Given the description of an element on the screen output the (x, y) to click on. 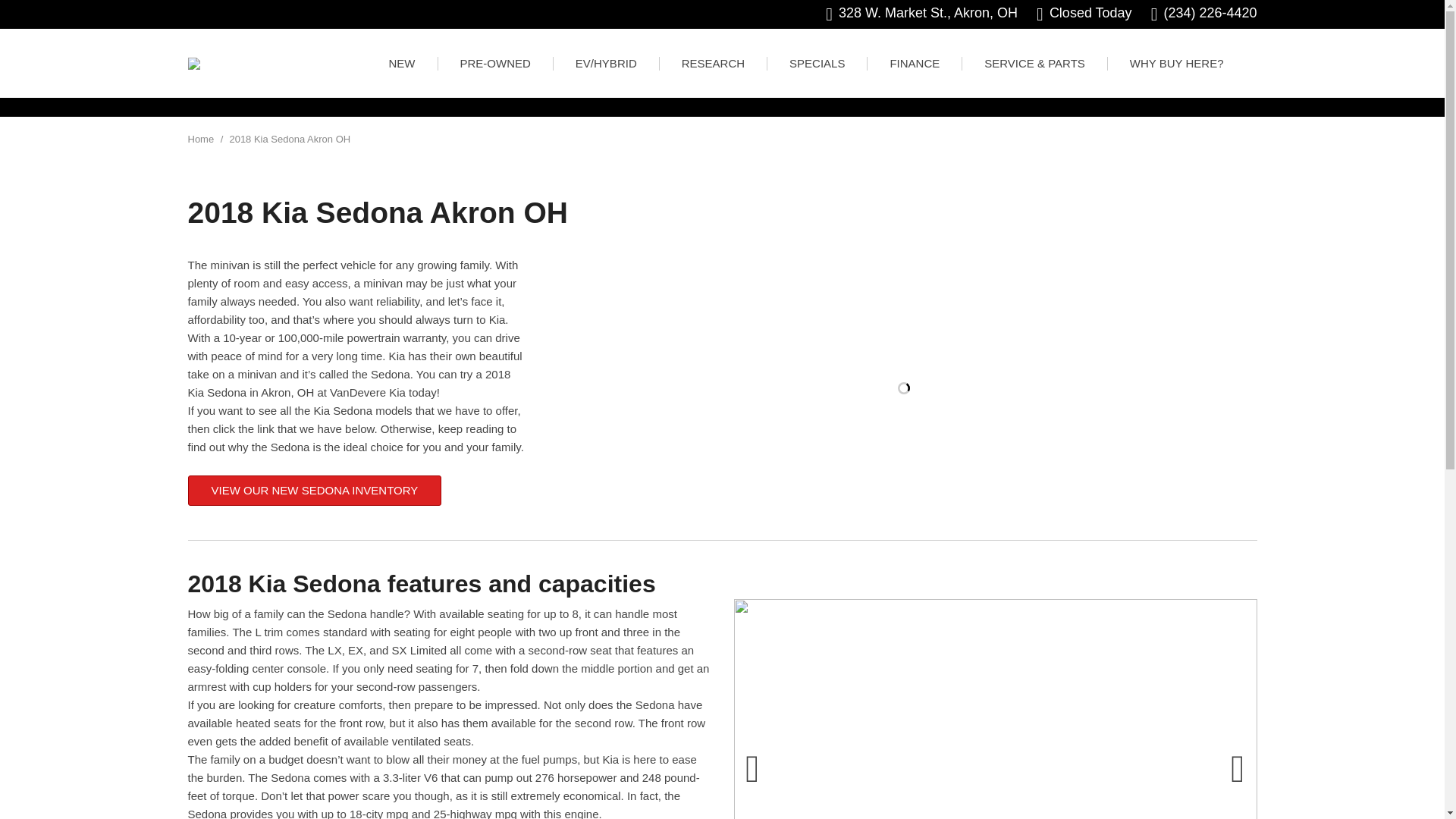
Closed Today (1084, 14)
NEW (402, 63)
PRE-OWNED (495, 63)
328 W. Market St., Akron, OH (921, 14)
VanDevere Kia (193, 63)
